Given the description of an element on the screen output the (x, y) to click on. 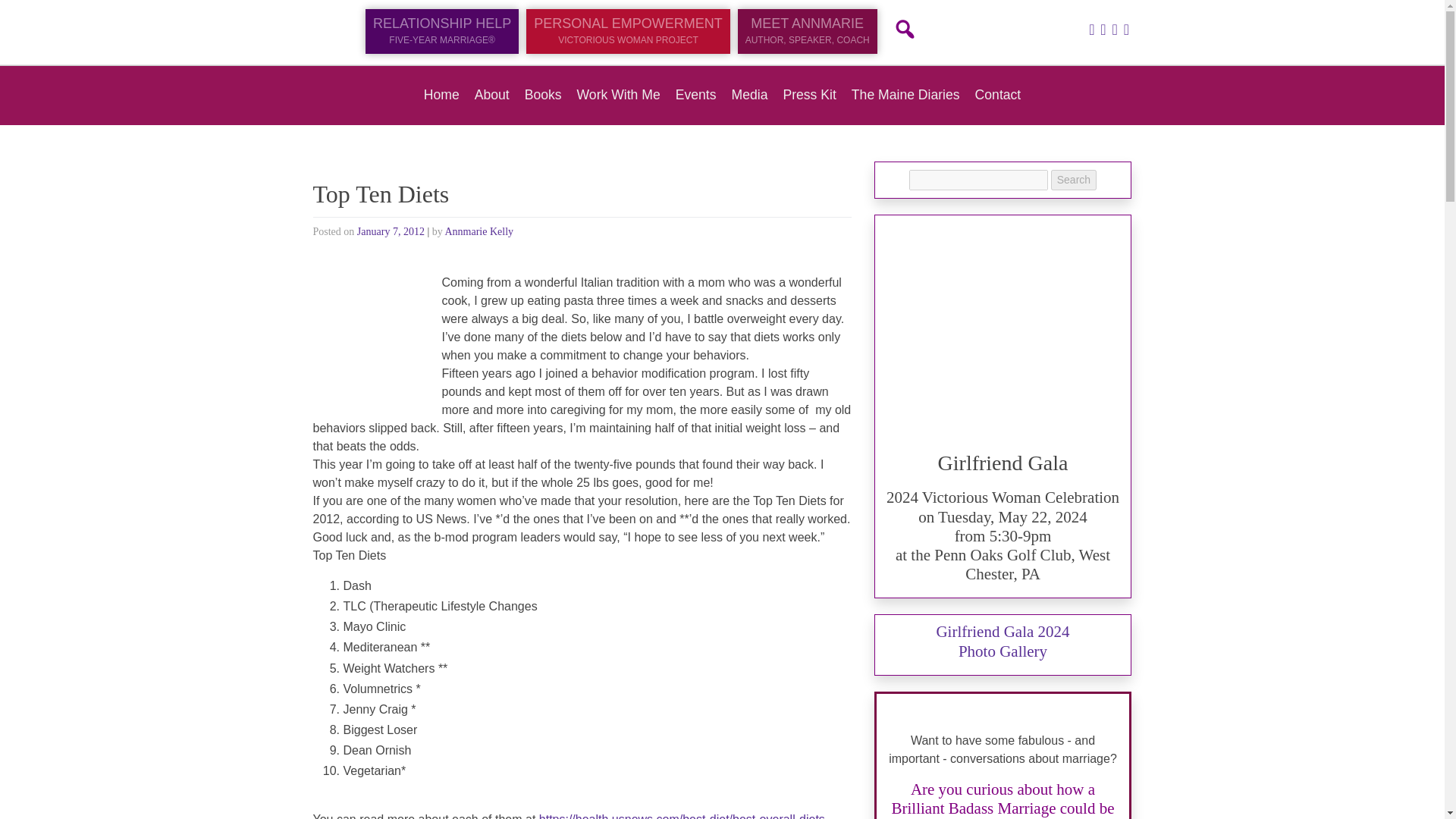
Contact (998, 94)
Media (750, 94)
The Maine Diaries (905, 94)
January 7, 2012 (390, 231)
Home (441, 94)
Books (543, 94)
Events (695, 94)
About (491, 94)
Work With Me (618, 94)
Press Kit (809, 94)
